Given the description of an element on the screen output the (x, y) to click on. 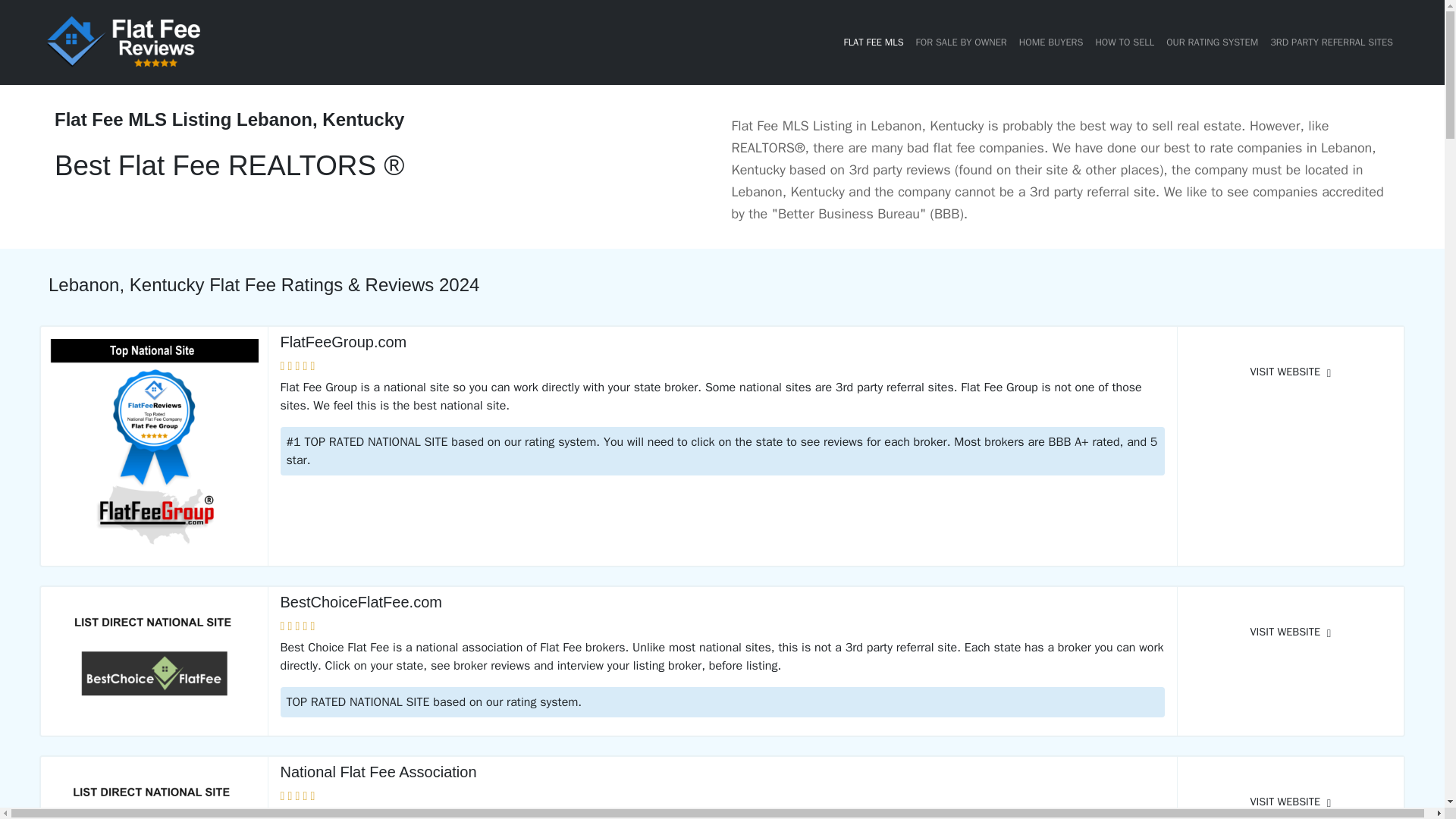
FOR SALE BY OWNER (961, 42)
FLAT FEE MLS (874, 42)
OUR RATING SYSTEM (1211, 42)
VISIT WEBSITE   (1290, 796)
HOW TO SELL (1124, 42)
3RD PARTY REFERRAL SITES (1331, 42)
VISIT WEBSITE   (1290, 632)
VISIT WEBSITE   (1290, 371)
HOME BUYERS (1051, 42)
